Given the description of an element on the screen output the (x, y) to click on. 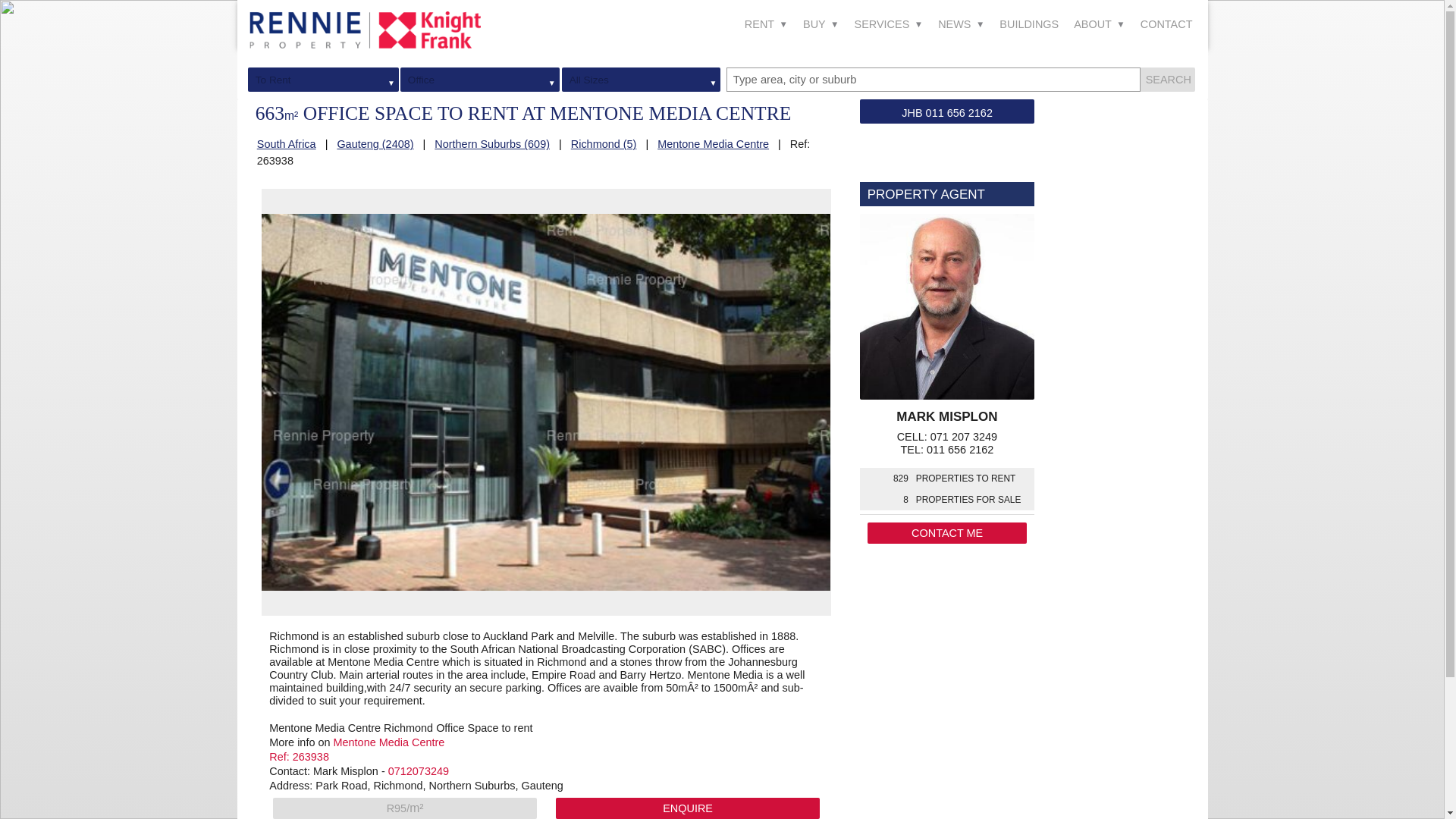
BUILDINGS (1028, 24)
Search (1166, 79)
Office (487, 79)
Search (1166, 79)
Contact a Real Estate Agent for Office Space in Richmond (687, 808)
To Rent (330, 79)
All Sizes (649, 79)
